Given the description of an element on the screen output the (x, y) to click on. 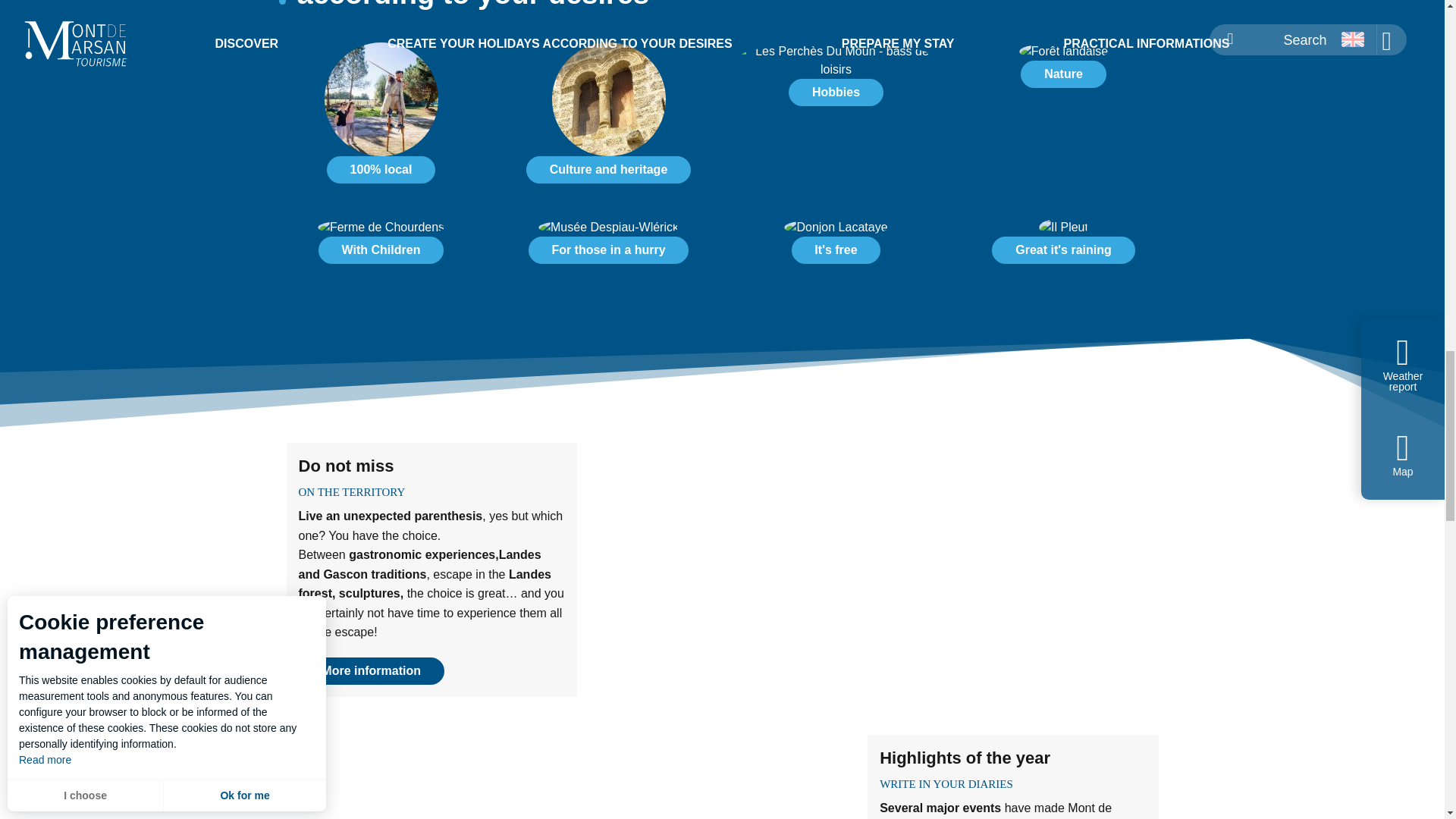
Hobbies (836, 92)
Culture and heritage (608, 118)
With Children (381, 249)
Nature (1063, 70)
Great it's raining (1062, 249)
For those in a hurry (608, 249)
It's free (836, 247)
It's free (836, 247)
For those in a hurry (608, 247)
It's free (836, 249)
